Given the description of an element on the screen output the (x, y) to click on. 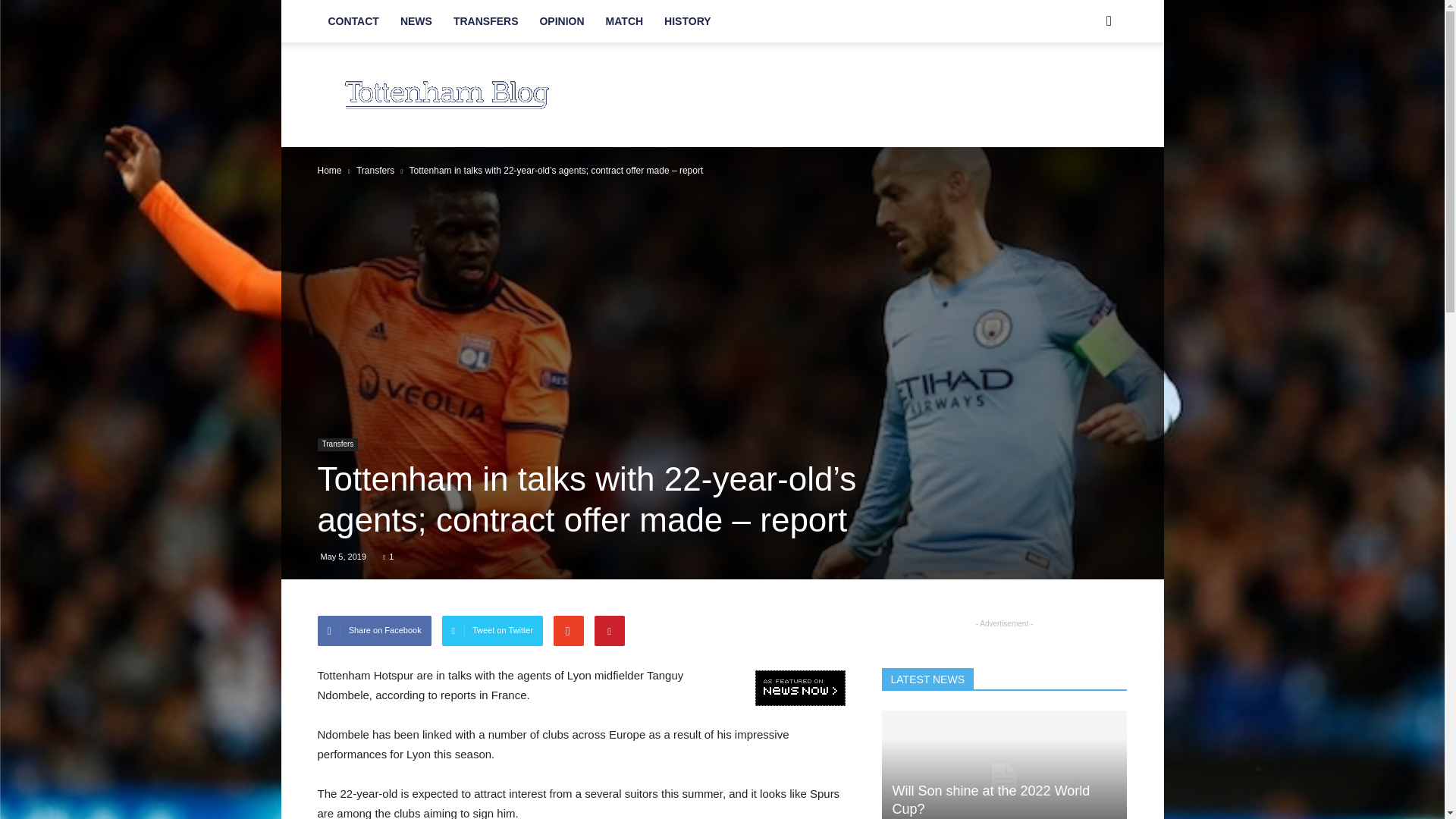
CONTACT (352, 21)
MATCH (624, 21)
Will Son shine at the 2022 World Cup? (1003, 764)
Tweet on Twitter (492, 630)
NEWS (416, 21)
Home (328, 170)
1 (387, 556)
OPINION (561, 21)
Transfers (337, 444)
Share on Facebook (373, 630)
Transfers (375, 170)
HISTORY (686, 21)
View all posts in Transfers (375, 170)
Will Son shine at the 2022 World Cup? (990, 799)
TRANSFERS (485, 21)
